Given the description of an element on the screen output the (x, y) to click on. 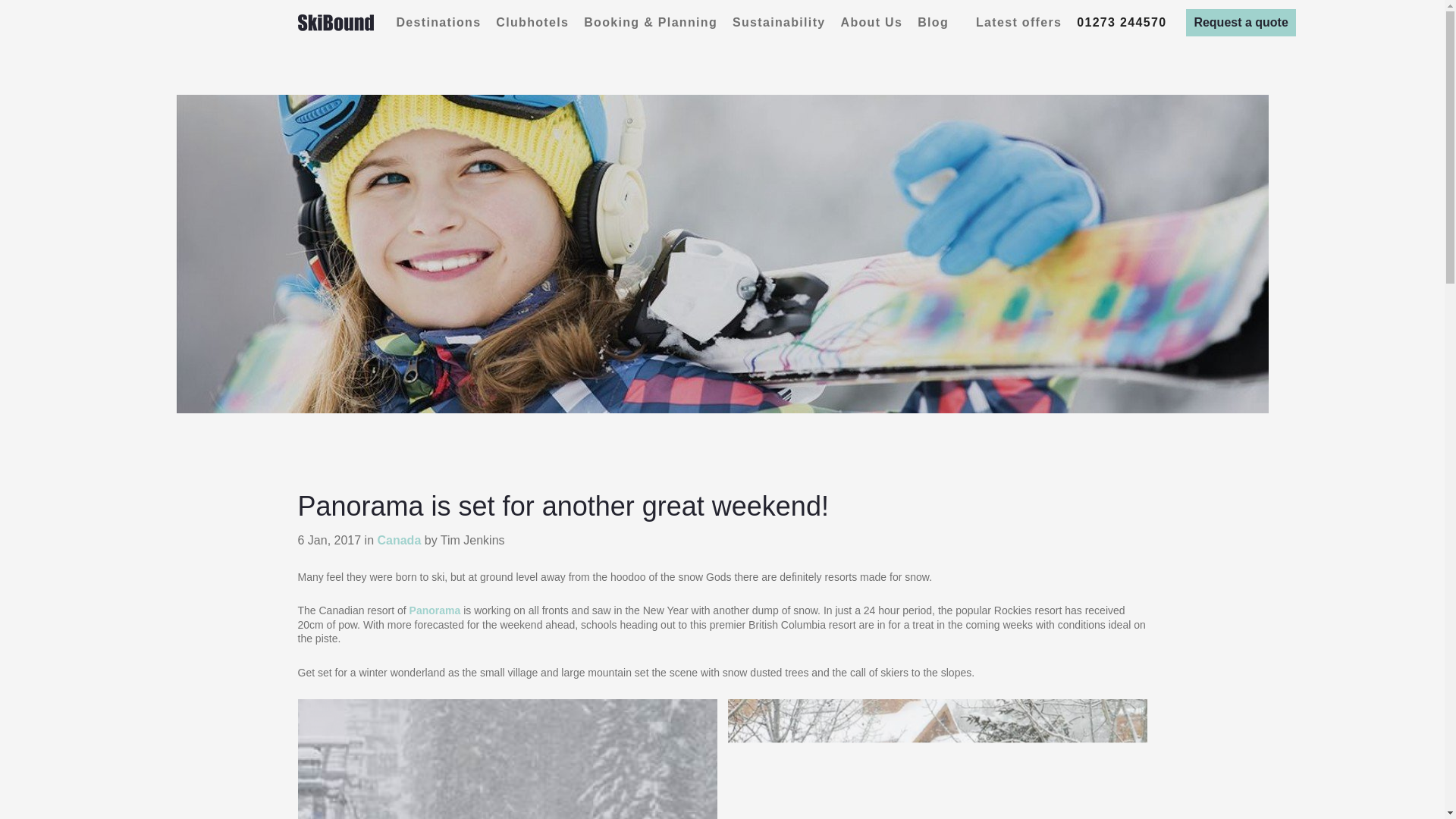
Home (334, 22)
Canada (398, 541)
Destinations (438, 22)
